Given the description of an element on the screen output the (x, y) to click on. 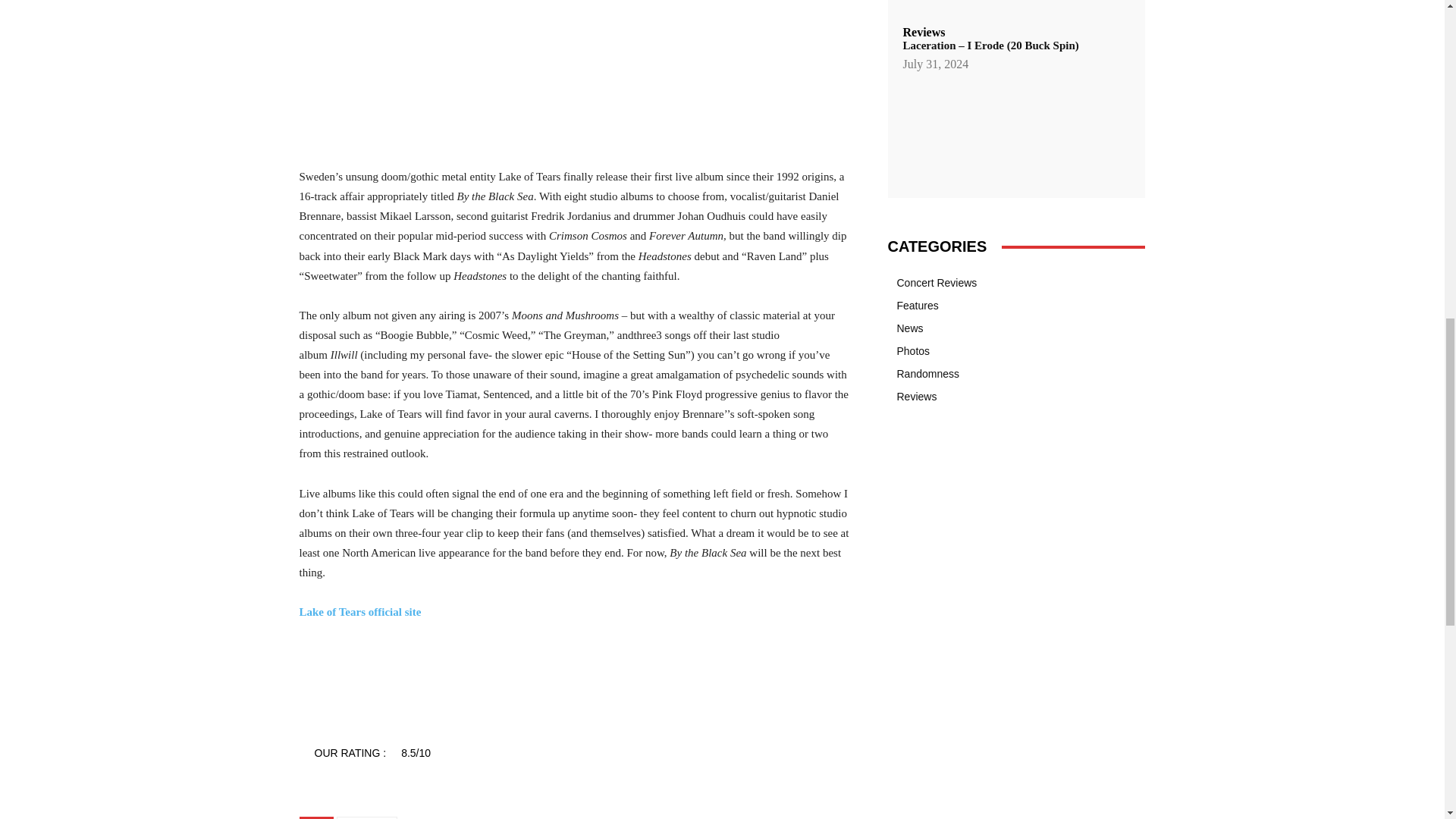
Lake of Tears official site (359, 612)
Lake of Tears (366, 817)
